Given the description of an element on the screen output the (x, y) to click on. 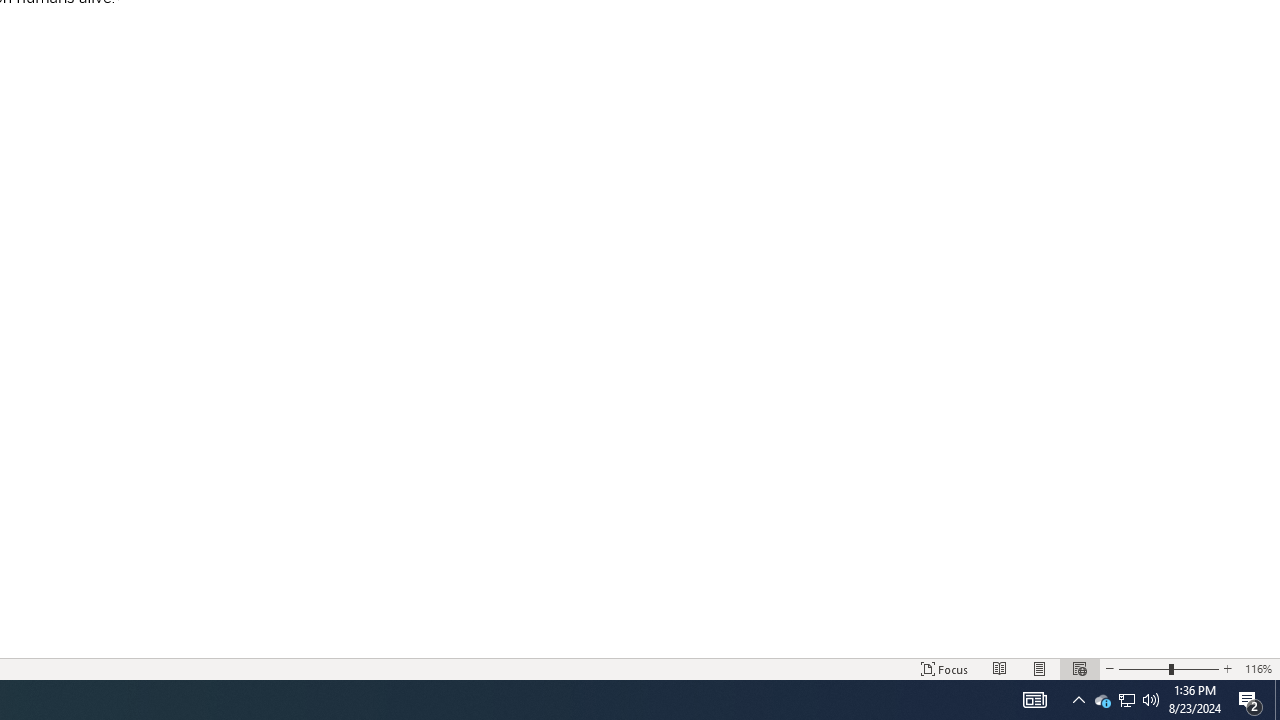
Zoom 116% (1258, 668)
